Given the description of an element on the screen output the (x, y) to click on. 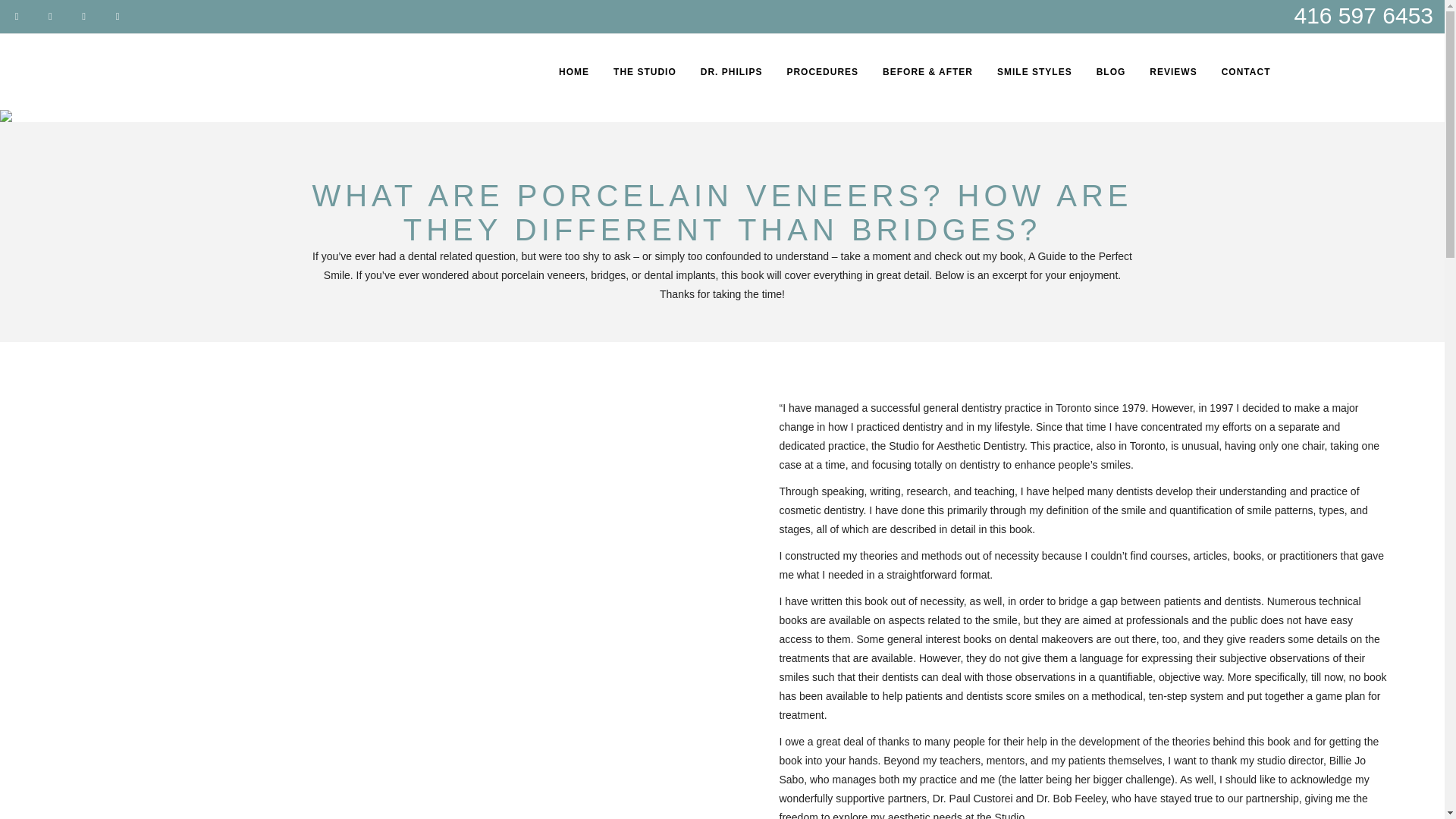
416 597 6453 (1363, 15)
SMILE STYLES (1035, 71)
PROCEDURES (822, 71)
DR. PHILIPS (731, 71)
REVIEWS (1172, 71)
THE STUDIO (644, 71)
CONTACT (1246, 71)
